Given the description of an element on the screen output the (x, y) to click on. 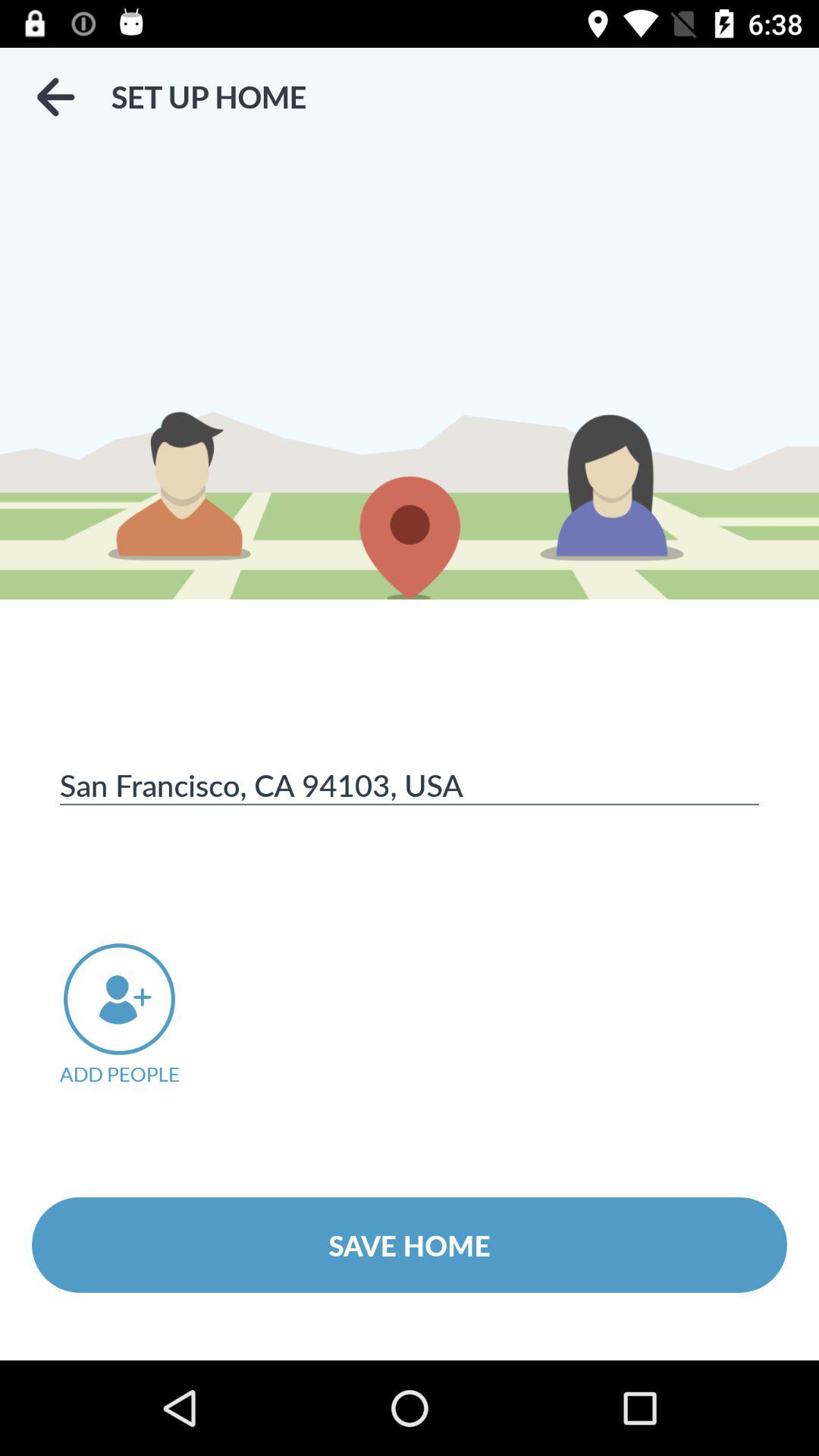
select icon to the left of the set up home item (55, 97)
